Given the description of an element on the screen output the (x, y) to click on. 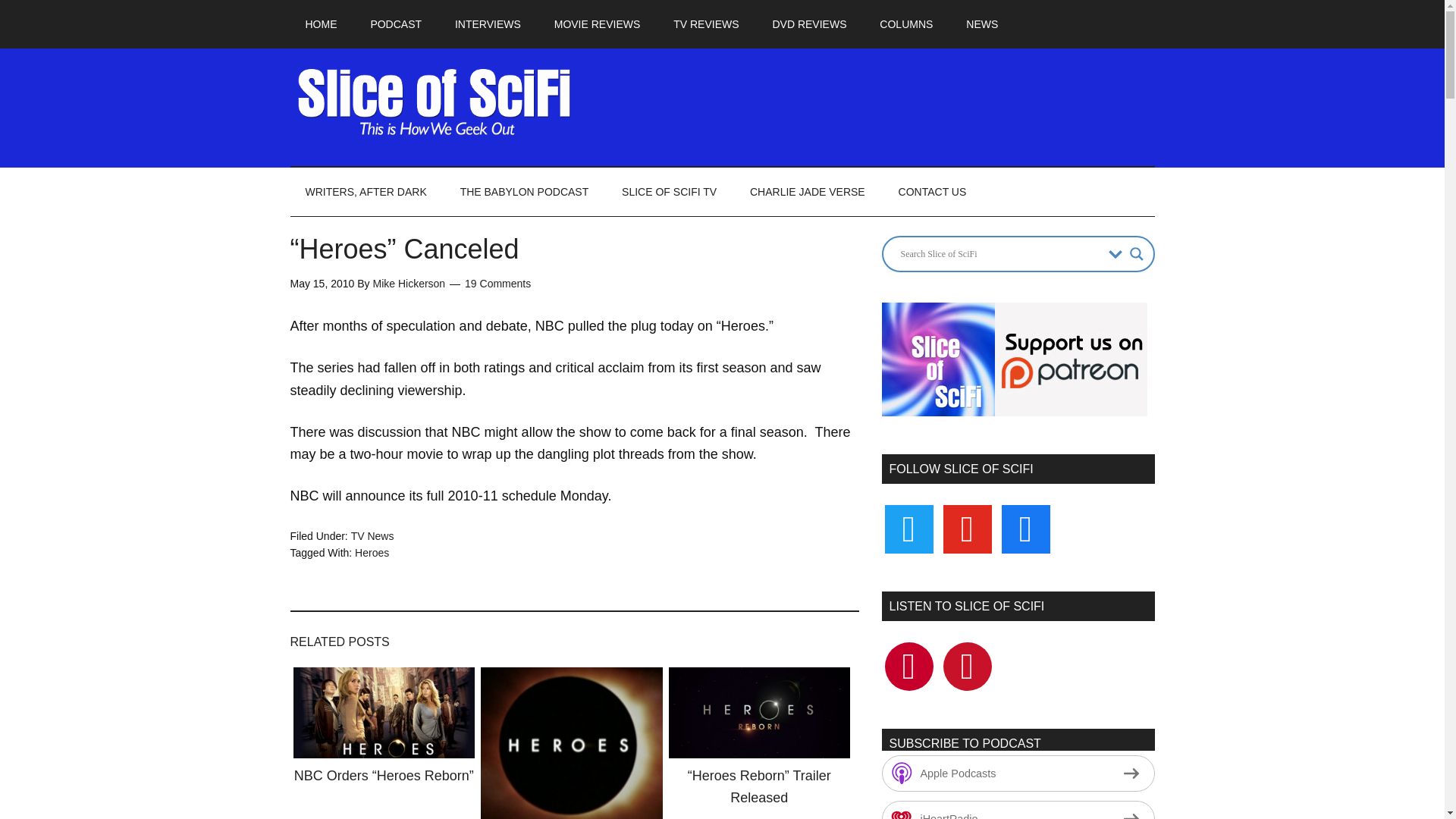
Posts by Mike Hickerson (408, 283)
SLICE OF SCIFI TV (669, 191)
TV REVIEWS (706, 24)
Slice of SciFi (433, 101)
DVD REVIEWS (809, 24)
Heroes (371, 552)
Twitter (967, 665)
THE BABYLON PODCAST (524, 191)
TV News (372, 535)
CONTACT US (932, 191)
